Given the description of an element on the screen output the (x, y) to click on. 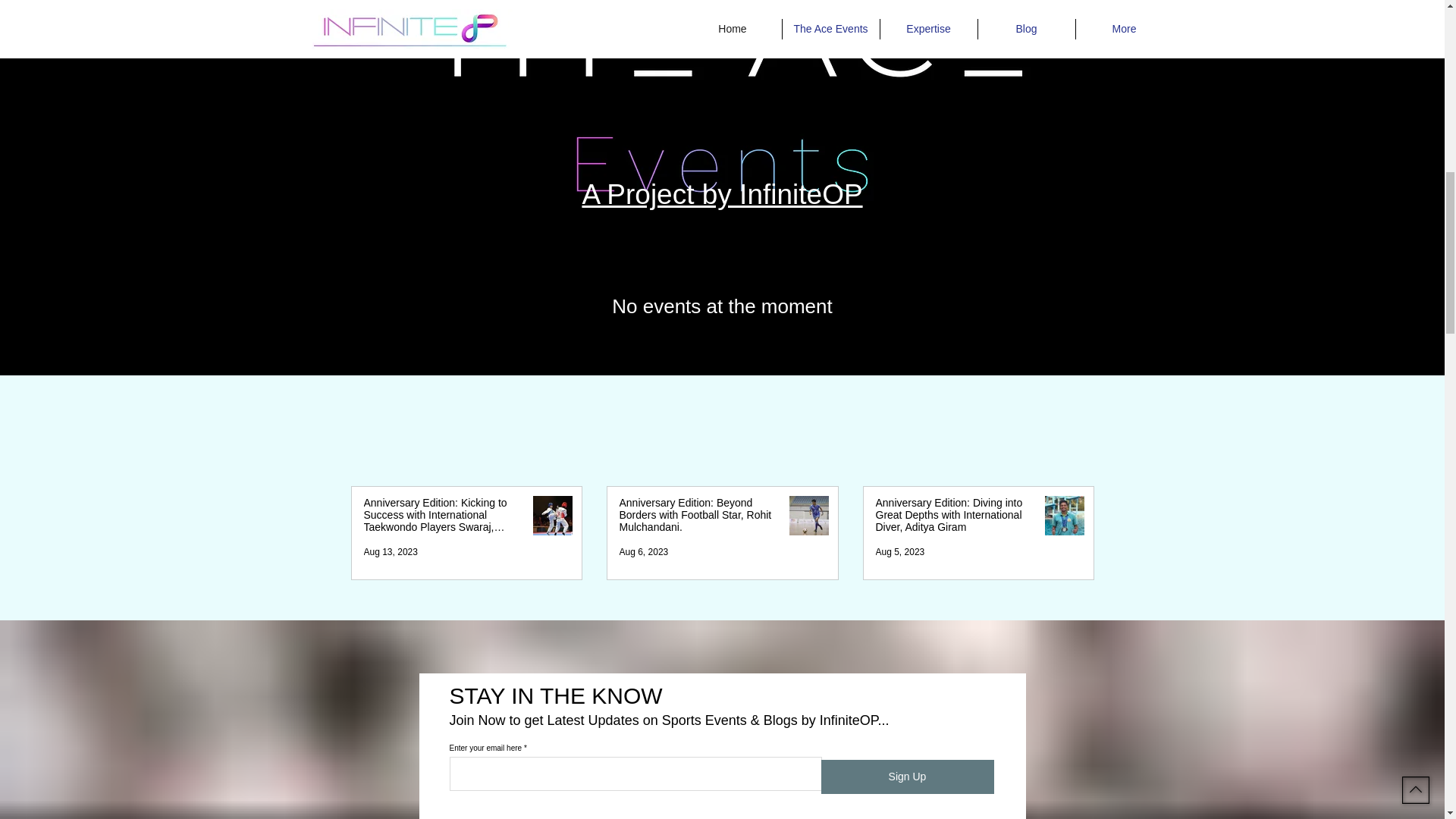
Sign Up (906, 776)
Aug 6, 2023 (643, 552)
Aug 13, 2023 (390, 552)
A Project by InfiniteOP (720, 194)
Aug 5, 2023 (899, 552)
